Given the description of an element on the screen output the (x, y) to click on. 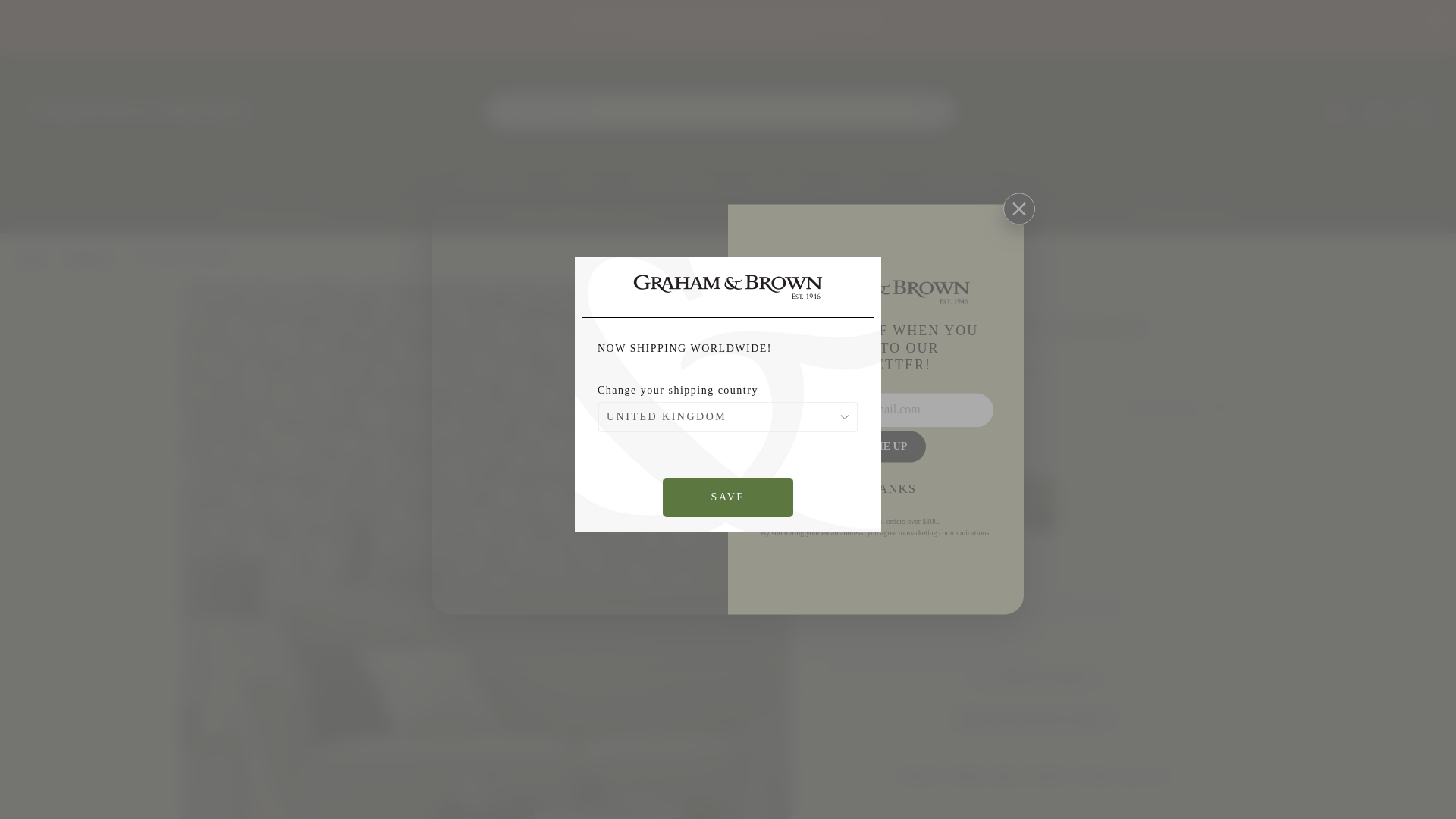
Luna Natural Wallpaper (912, 502)
Go to Wallpaper (89, 258)
View your Bag (1418, 113)
productsidebar-title-regular-price (871, 370)
Add to Bag (1085, 608)
order sample (1044, 677)
WALLPAPER (493, 185)
Sign In (1378, 113)
Save (727, 496)
Luna Charcoal Wallpaper (1027, 502)
Save For Later (1219, 408)
Luna Pepper Wallpaper (854, 502)
Sale Price (986, 369)
1 (868, 607)
